Given the description of an element on the screen output the (x, y) to click on. 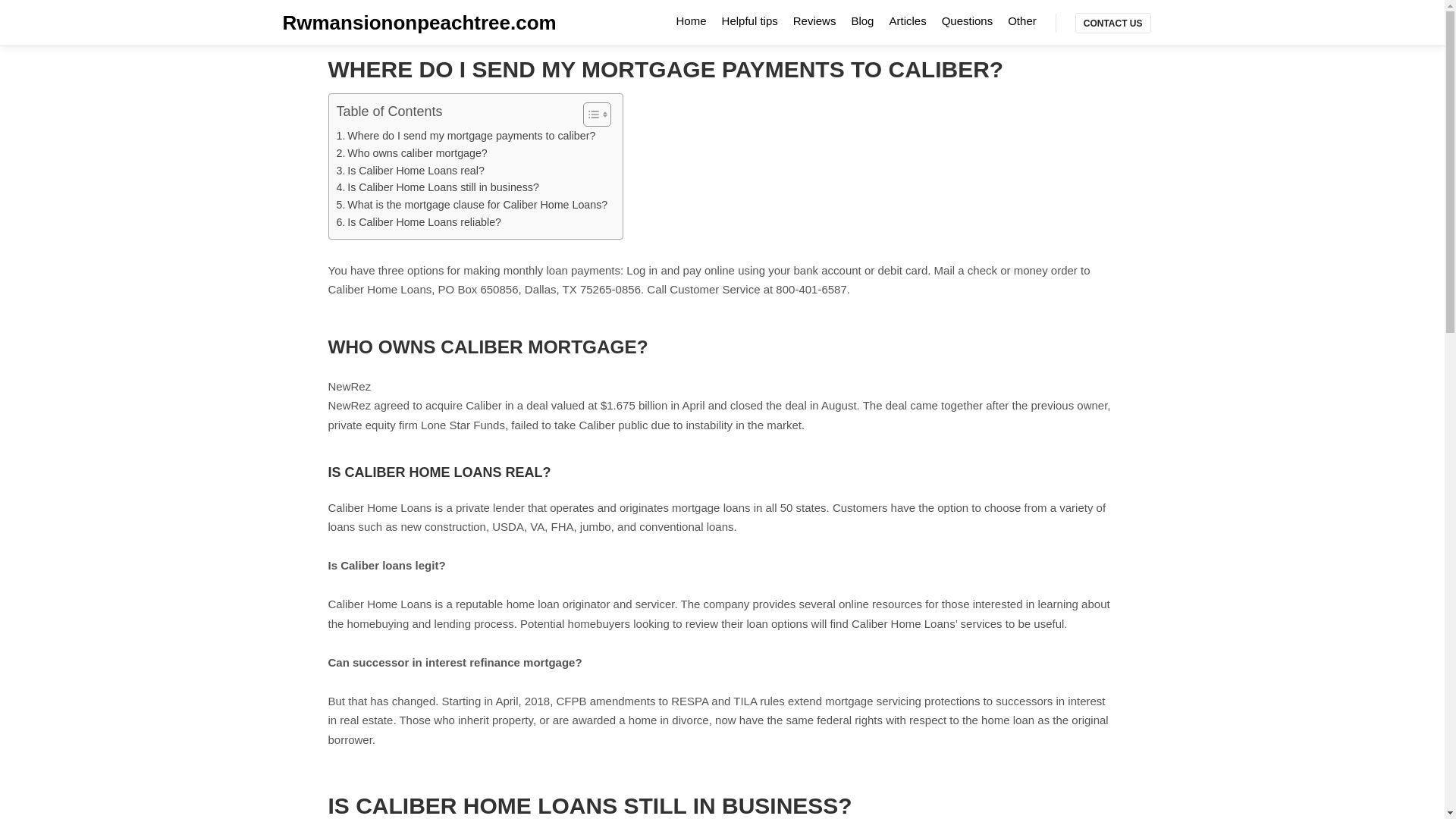
Where do I send my mortgage payments to caliber? (465, 135)
Rwmansiononpeachtree.com (357, 22)
Rwmansiononpeachtree.com (357, 22)
Reviews (815, 20)
Questions (967, 20)
Is Caliber Home Loans still in business? (437, 187)
What is the mortgage clause for Caliber Home Loans? (472, 204)
Is Caliber Home Loans still in business? (437, 187)
CONTACT US (1113, 22)
Is Caliber Home Loans reliable? (419, 221)
